Given the description of an element on the screen output the (x, y) to click on. 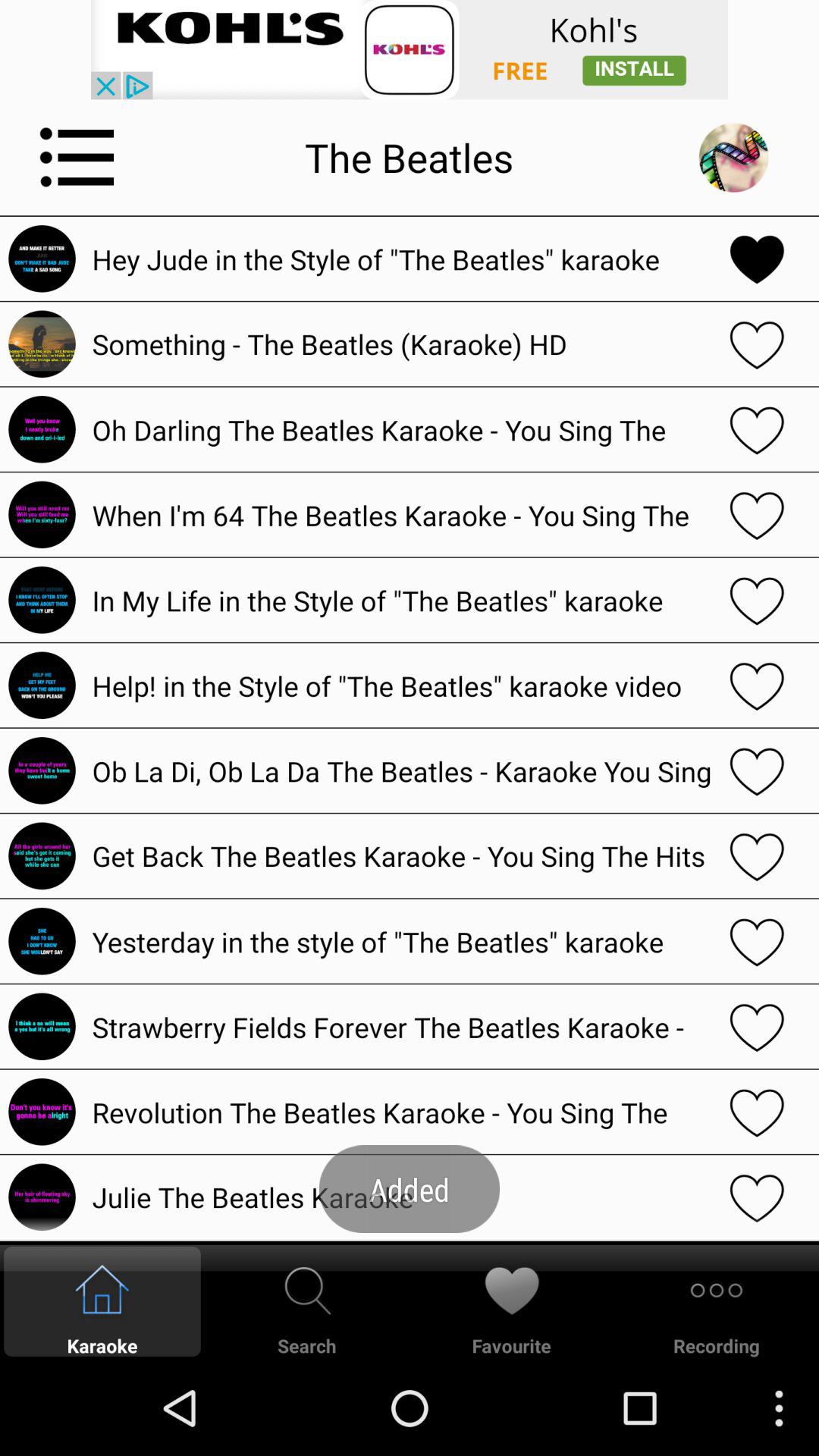
add to favorites (756, 1197)
